Given the description of an element on the screen output the (x, y) to click on. 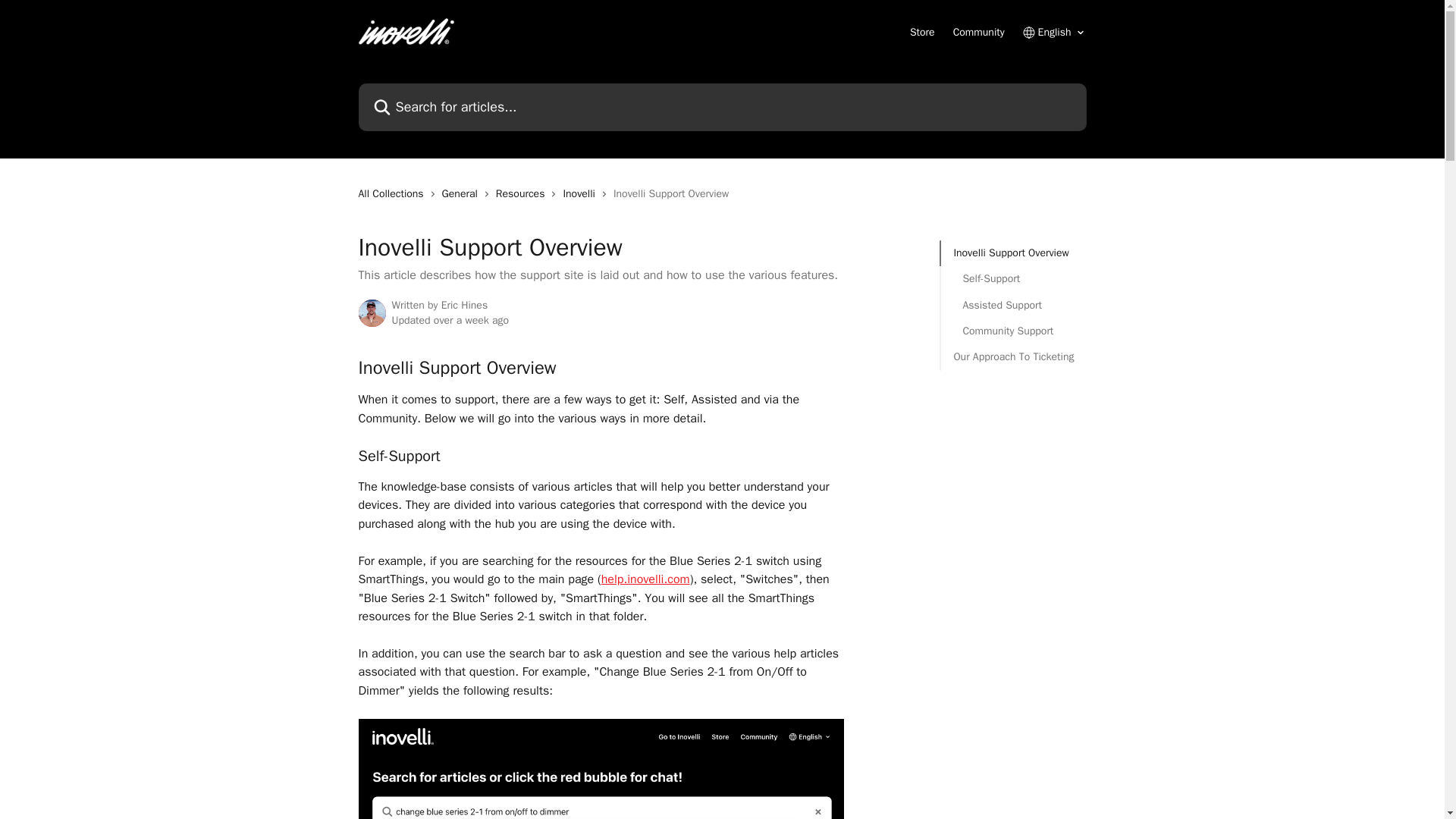
Resources (523, 193)
Assisted Support (1013, 305)
General (462, 193)
Self-Support (1013, 279)
Our Approach To Ticketing (1013, 356)
Inovelli Support Overview (1013, 252)
Community Support (1013, 330)
Store (922, 32)
help.inovelli.com (645, 579)
All Collections (393, 193)
Community (978, 32)
Inovelli (580, 193)
